Given the description of an element on the screen output the (x, y) to click on. 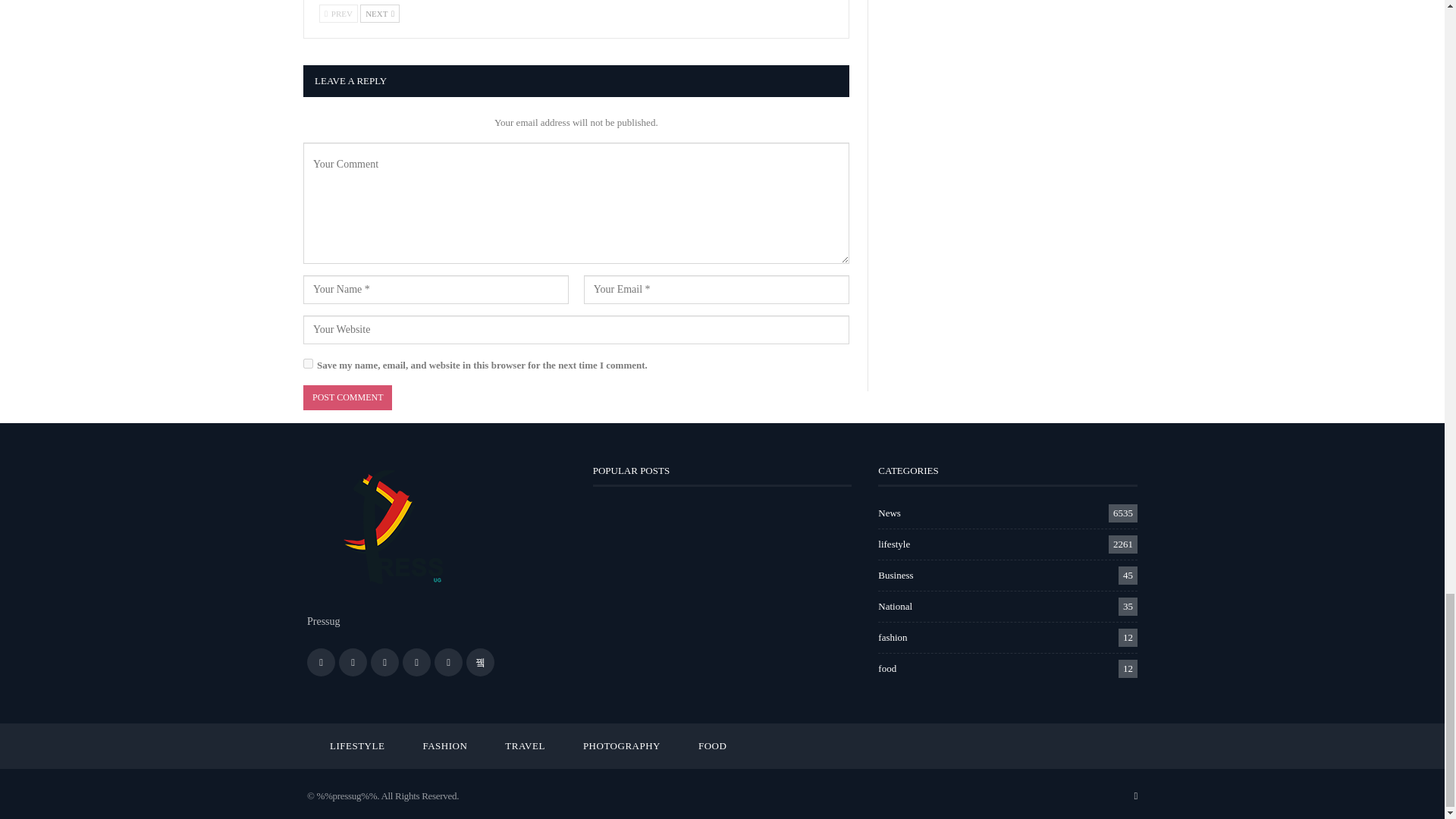
yes (307, 363)
Post Comment (346, 397)
